Given the description of an element on the screen output the (x, y) to click on. 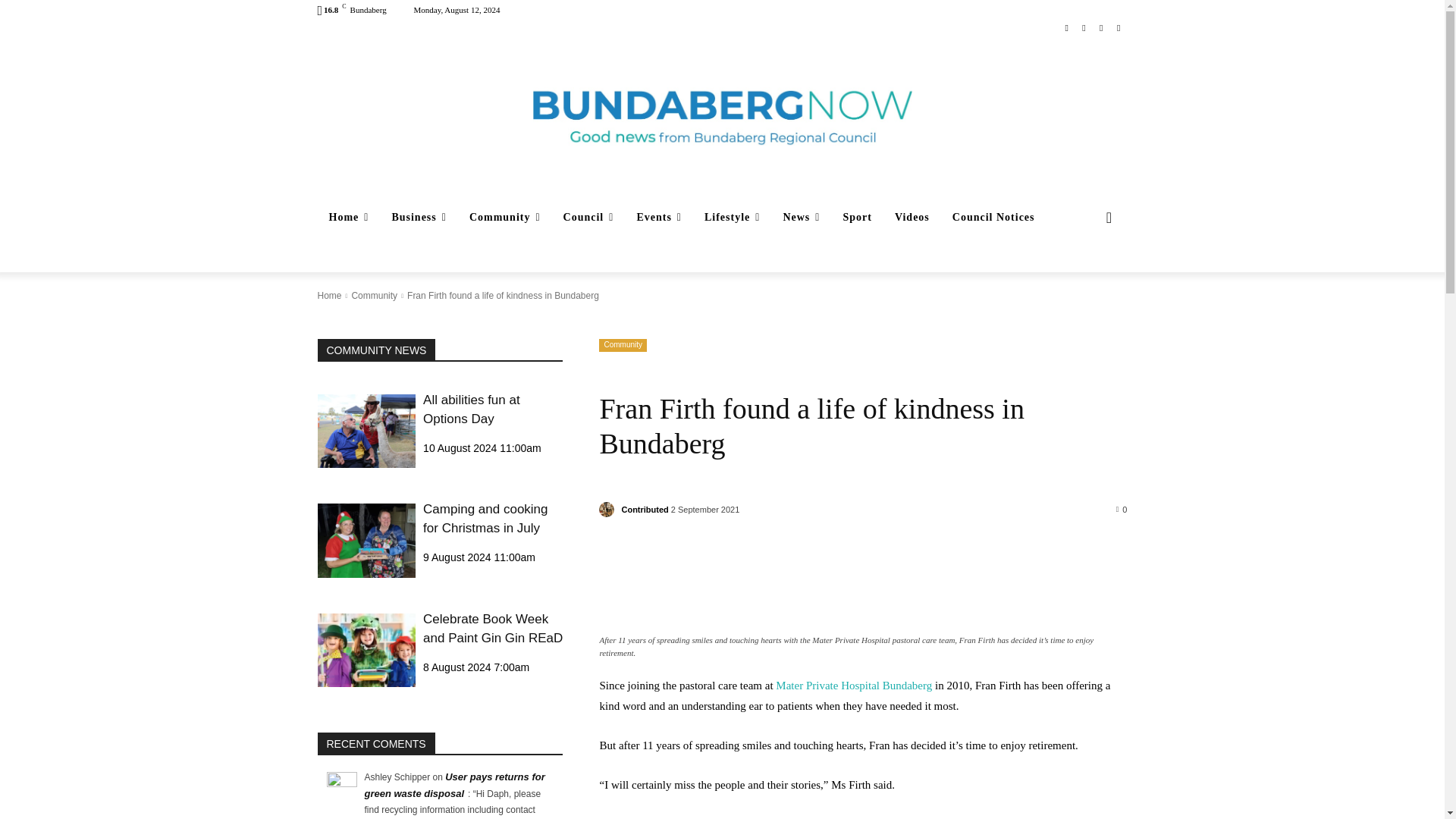
Instagram (1084, 27)
Twitter (1101, 27)
Facebook (1066, 27)
Bundaberg Now (721, 117)
Bundaberg Now (721, 117)
Youtube (1117, 27)
Home (348, 217)
